Given the description of an element on the screen output the (x, y) to click on. 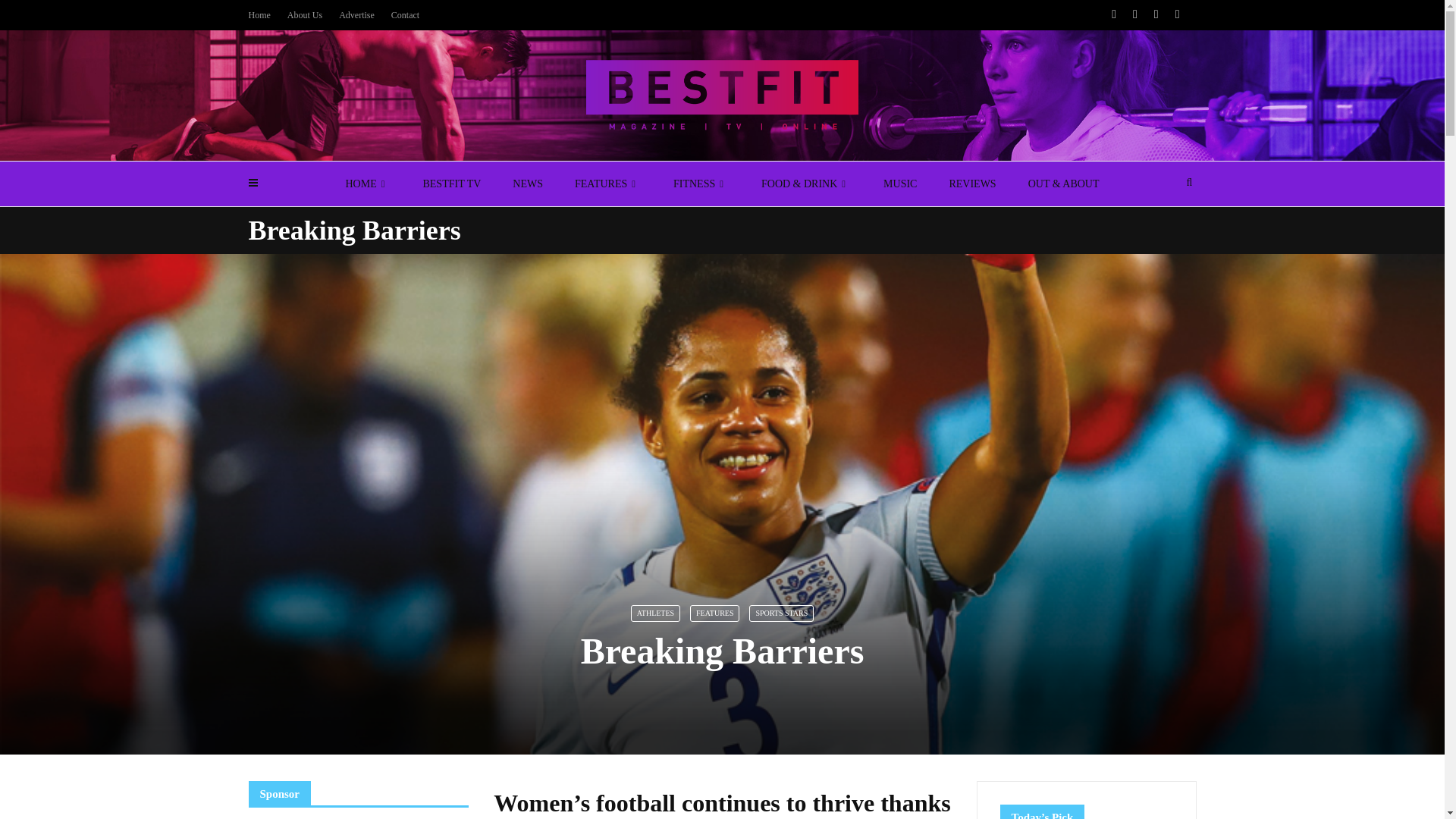
FEATURES (608, 183)
FITNESS (701, 183)
MUSIC (900, 183)
BESTFIT TV (451, 183)
REVIEWS (972, 183)
HOME (367, 183)
Home (259, 15)
NEWS (527, 183)
